Given the description of an element on the screen output the (x, y) to click on. 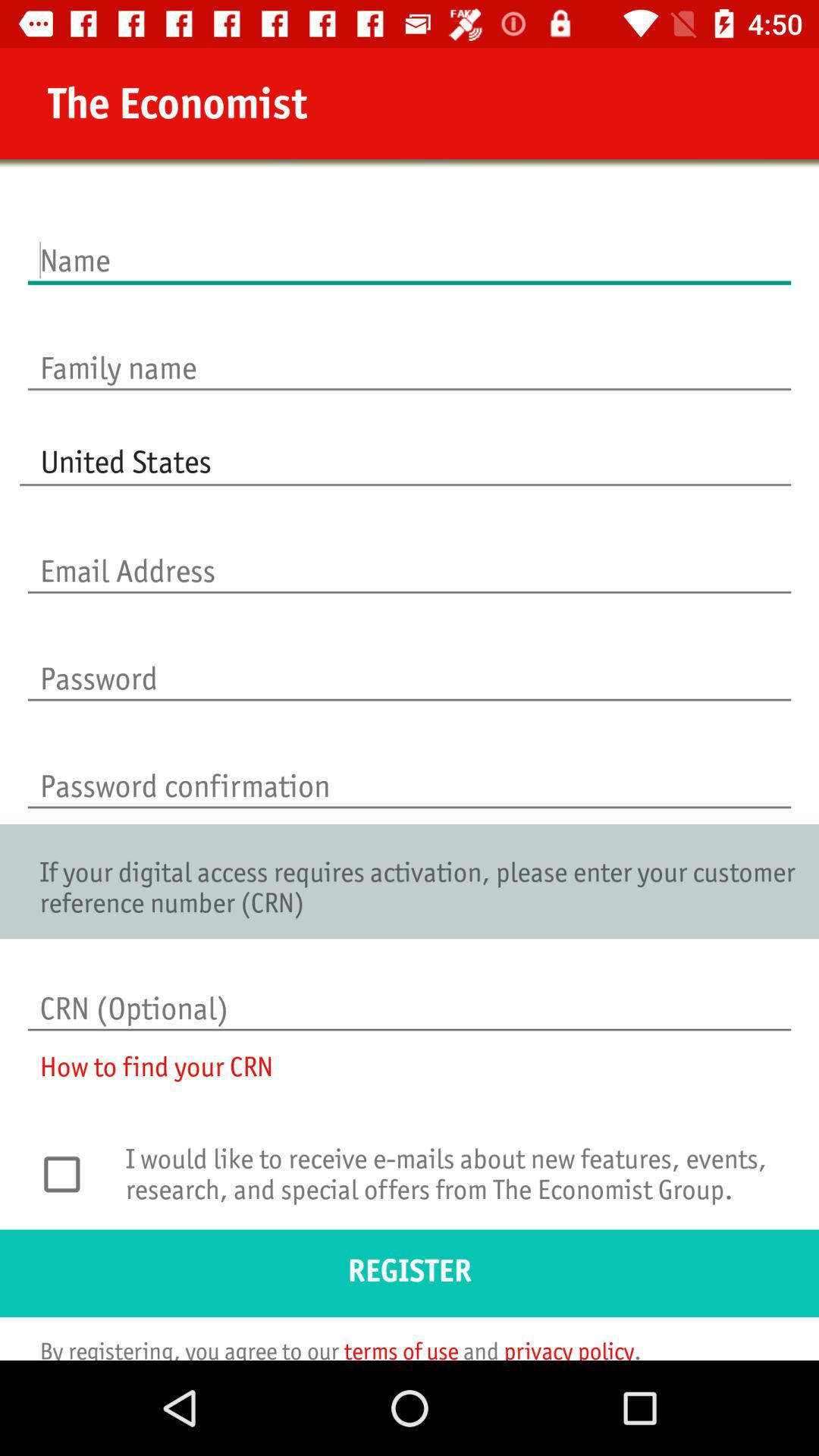
optional customer reference number (409, 992)
